Given the description of an element on the screen output the (x, y) to click on. 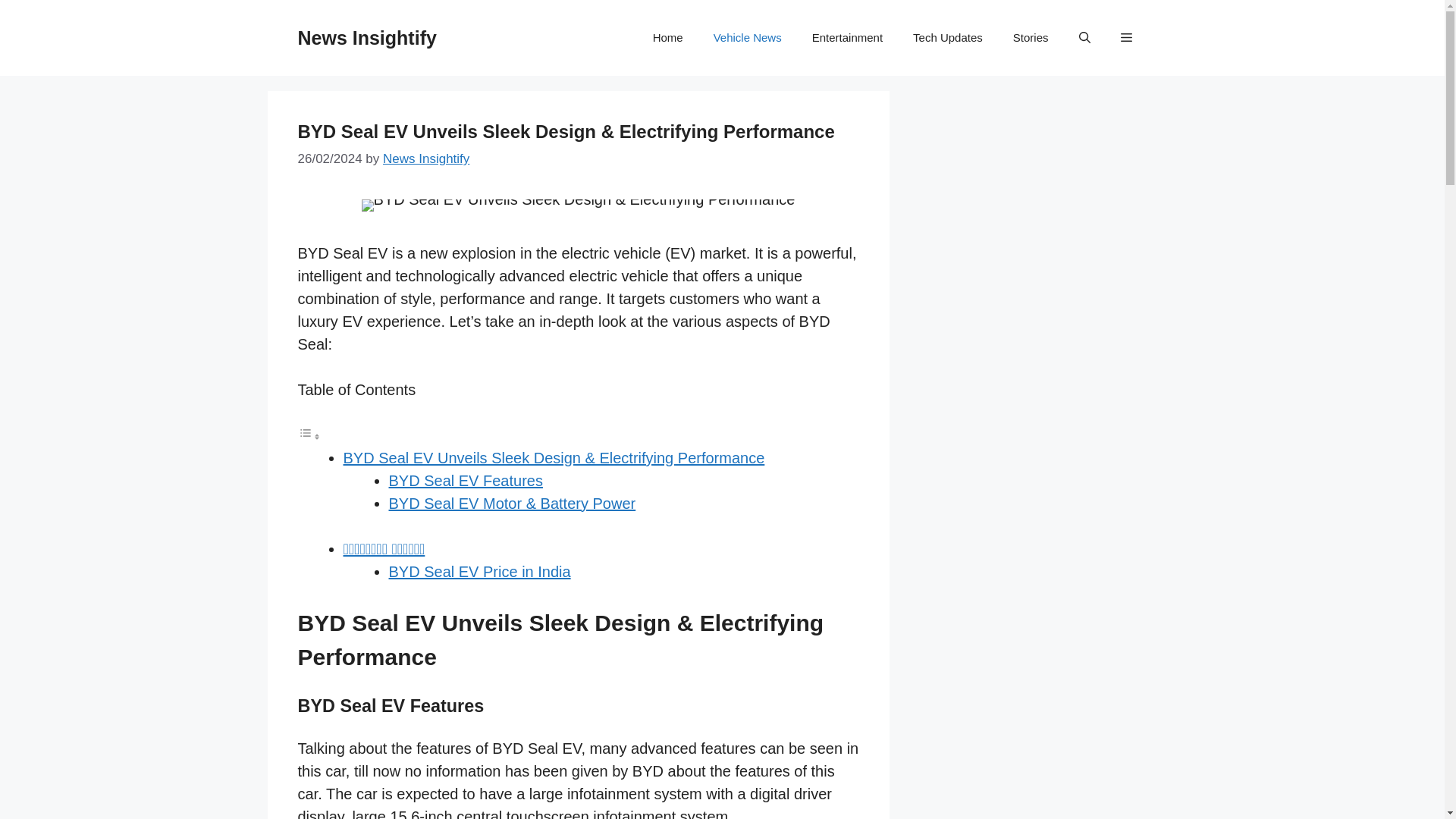
BYD Seal EV Price in India (479, 571)
Home (667, 37)
Tech Updates (947, 37)
Stories (1030, 37)
BYD Seal EV Price in India (479, 571)
Vehicle News (747, 37)
Entertainment (847, 37)
News Insightify (366, 37)
BYD Seal EV Features (464, 480)
News Insightify (425, 158)
View all posts by News Insightify (425, 158)
BYD Seal EV Features (464, 480)
